Given the description of an element on the screen output the (x, y) to click on. 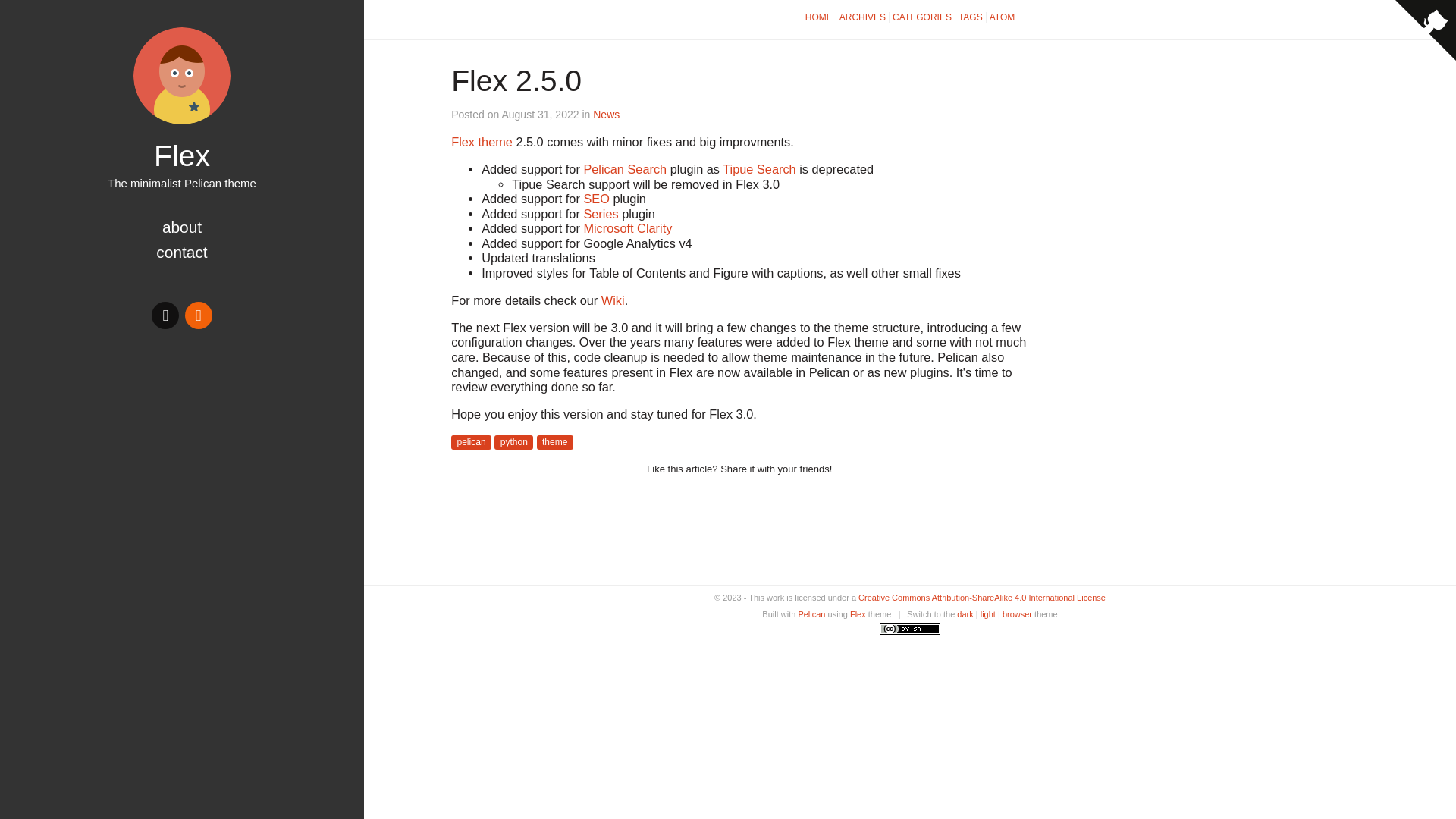
Flex theme (481, 141)
Flex (181, 155)
Flex (181, 75)
ARCHIVES (862, 17)
Tipue Search (758, 169)
Microsoft Clarity (627, 228)
browser (1017, 614)
Pelican Search (624, 169)
theme (555, 441)
SEO (595, 198)
